Given the description of an element on the screen output the (x, y) to click on. 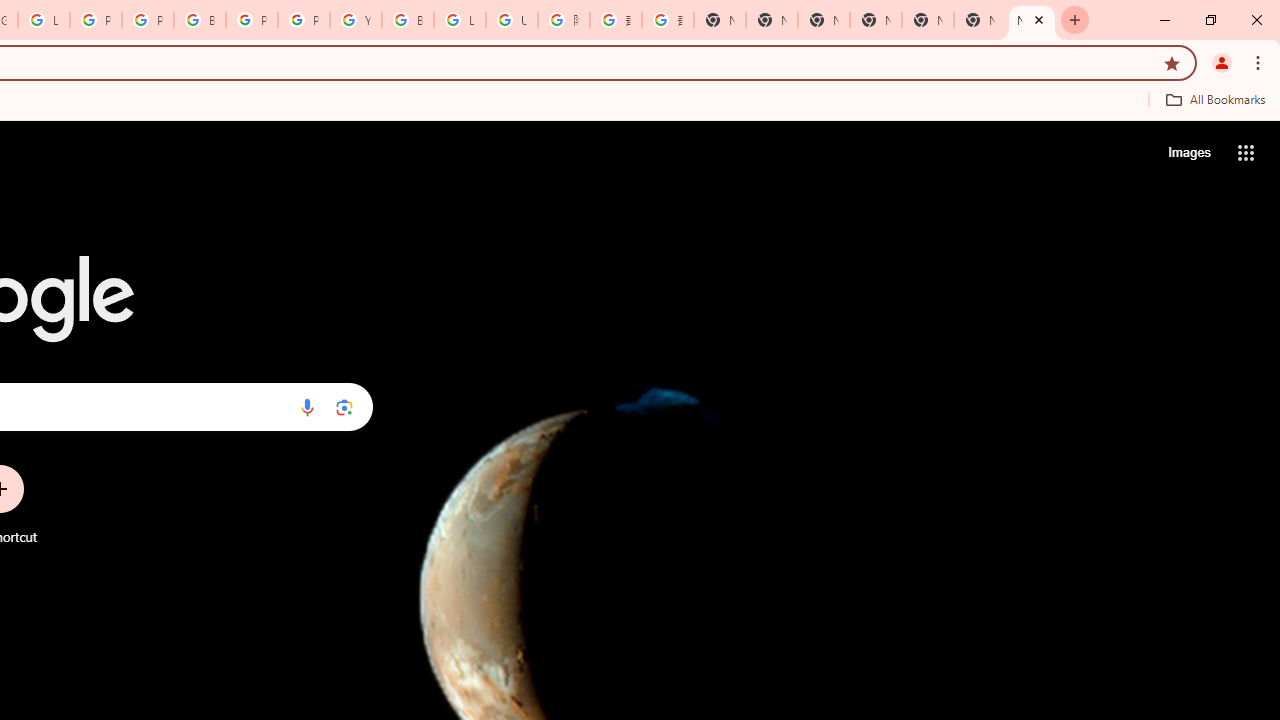
New Tab (927, 20)
Privacy Help Center - Policies Help (147, 20)
New Tab (1032, 20)
